Given the description of an element on the screen output the (x, y) to click on. 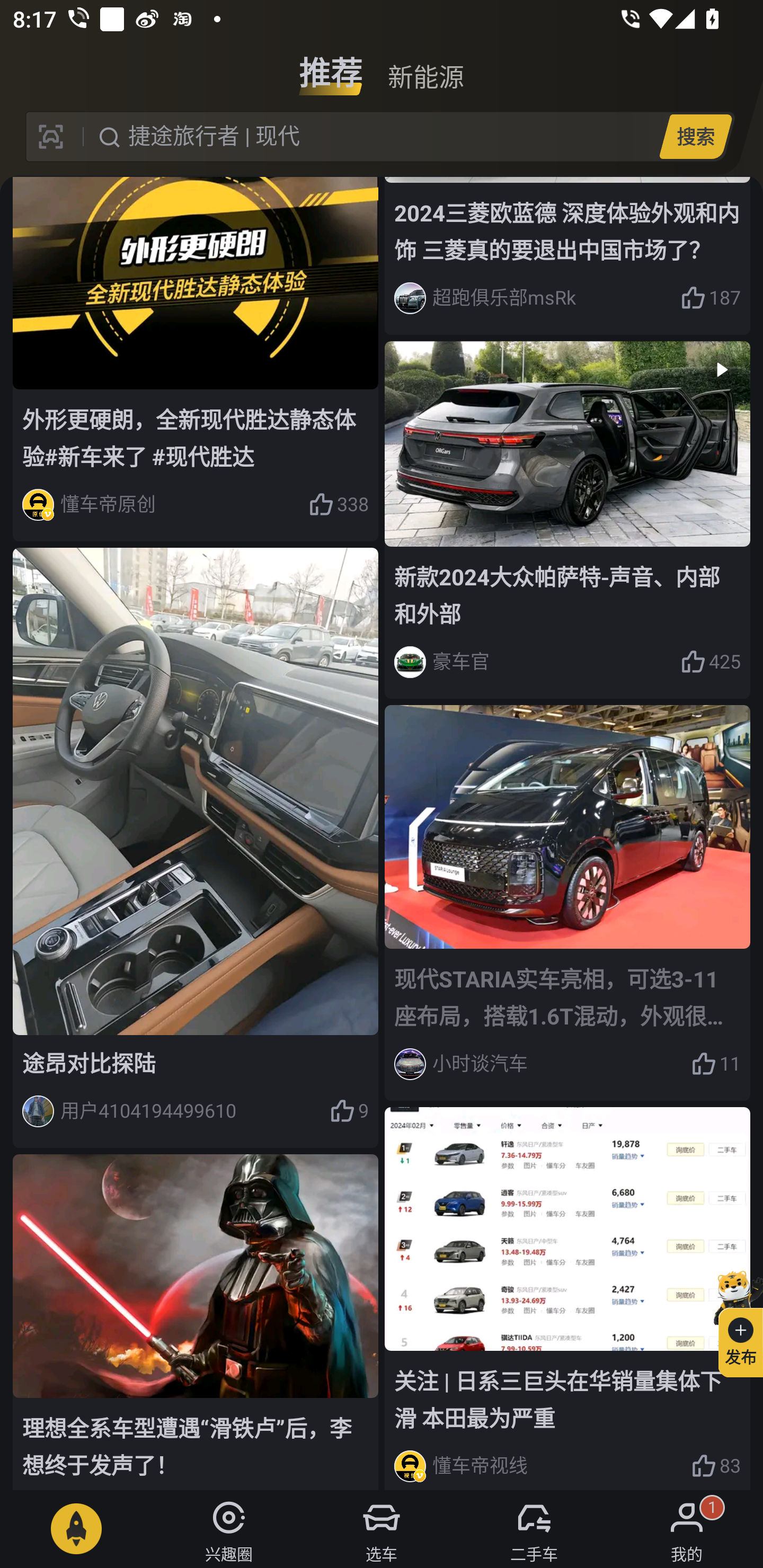
推荐 (330, 65)
新能源 (425, 65)
搜索 (695, 136)
外形更硬朗，全新现代胜达静态体验#新车来了 #现代胜达 懂车帝原创 338 (195, 358)
2024三菱欧蓝德 深度体验外观和内饰 三菱真的要退出中国市场了？ 超跑俱乐部msRk 187 (567, 256)
187 (710, 297)
 新款2024大众帕萨特-声音、内部和外部 豪车官 425 (567, 520)
338 (338, 504)
途昂对比探陆 用户4104194499610 9 (195, 847)
425 (710, 662)
现代STARIA实车亮相，可选3-11座布局，搭载1.6T混动，外观很时尚 小时谈汽车 11 (567, 902)
11 (715, 1064)
9 (348, 1111)
关注 | 日系三巨头在华销量集体下滑 本田最为严重 懂车帝视线 83 (567, 1298)
理想全系车型遭遇“滑铁卢”后，李想终于发声了！ (195, 1321)
发布 (732, 1321)
83 (715, 1465)
 兴趣圈 (228, 1528)
 选车 (381, 1528)
 二手车 (533, 1528)
 我的 (686, 1528)
